Given the description of an element on the screen output the (x, y) to click on. 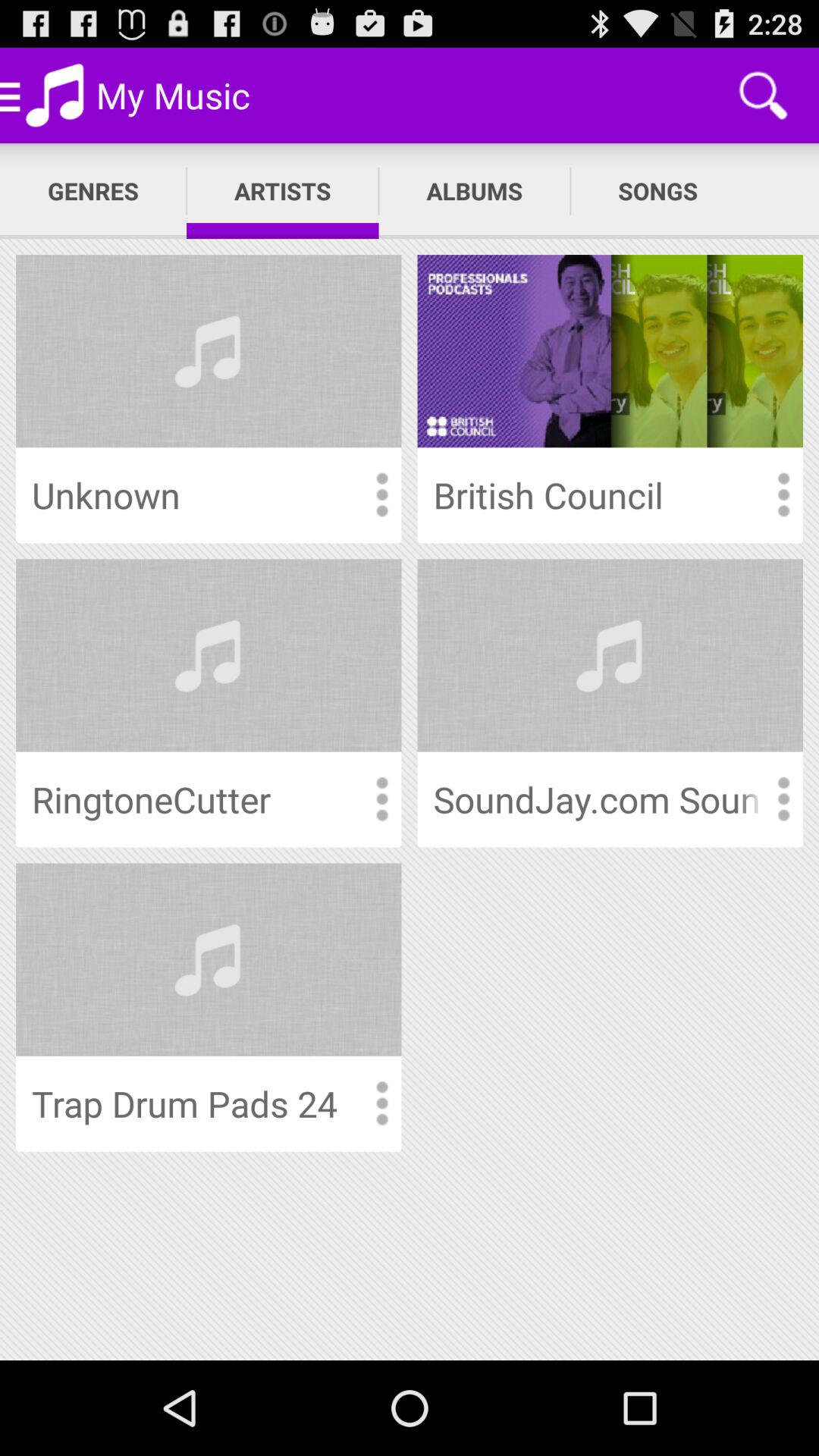
turn off the artists app (282, 190)
